Given the description of an element on the screen output the (x, y) to click on. 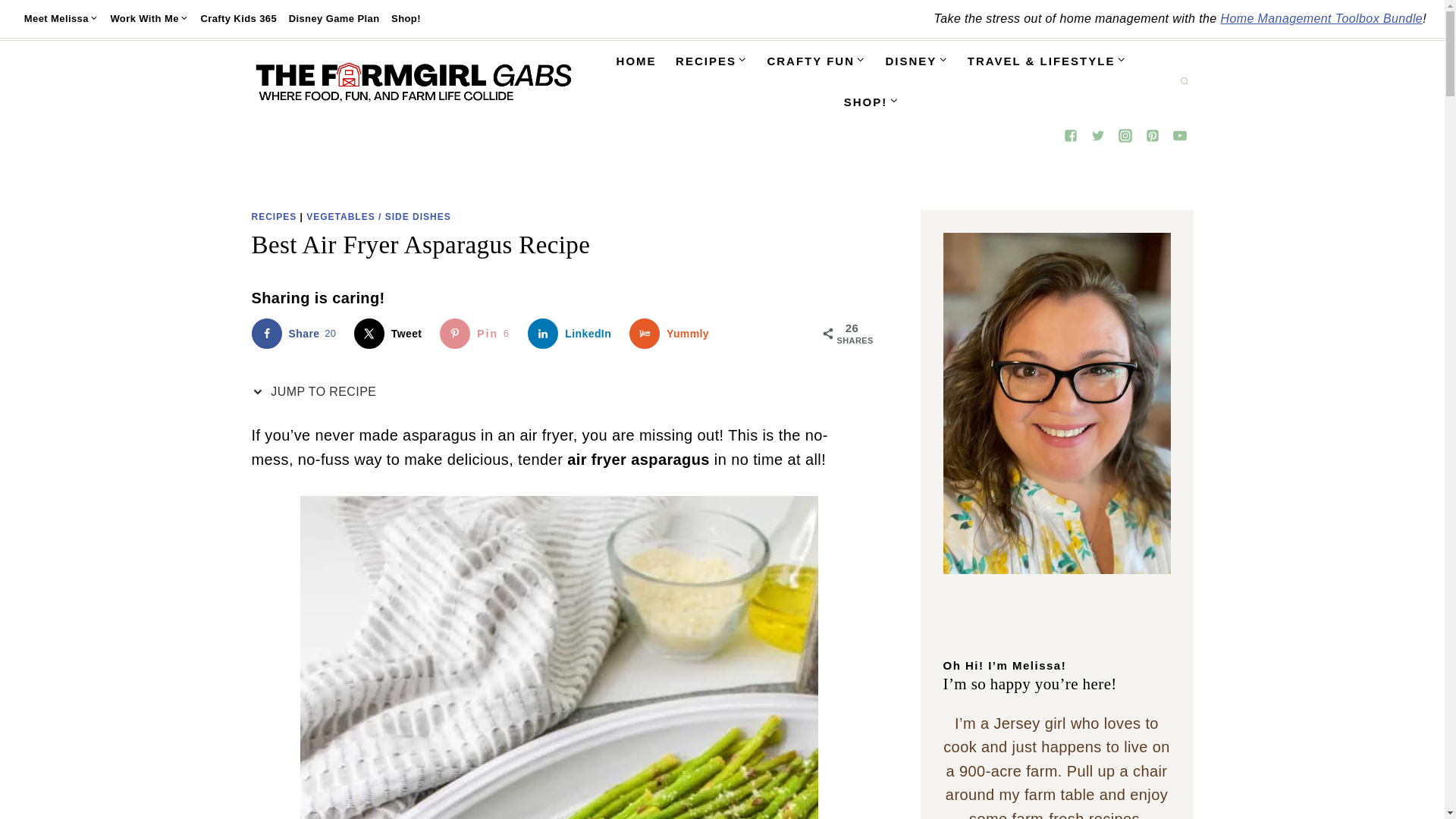
Share on LinkedIn (572, 333)
Meet Melissa (60, 18)
HOME (636, 60)
CRAFTY FUN (816, 60)
Share on X (391, 333)
Save to Pinterest (477, 333)
Share on Facebook (296, 333)
Work With Me (149, 18)
Shop! (405, 18)
RECIPES (711, 60)
Home Management Toolbox Bundle (1321, 18)
Crafty Kids 365 (238, 18)
Share on Yummly (672, 333)
Disney Game Plan (333, 18)
